Given the description of an element on the screen output the (x, y) to click on. 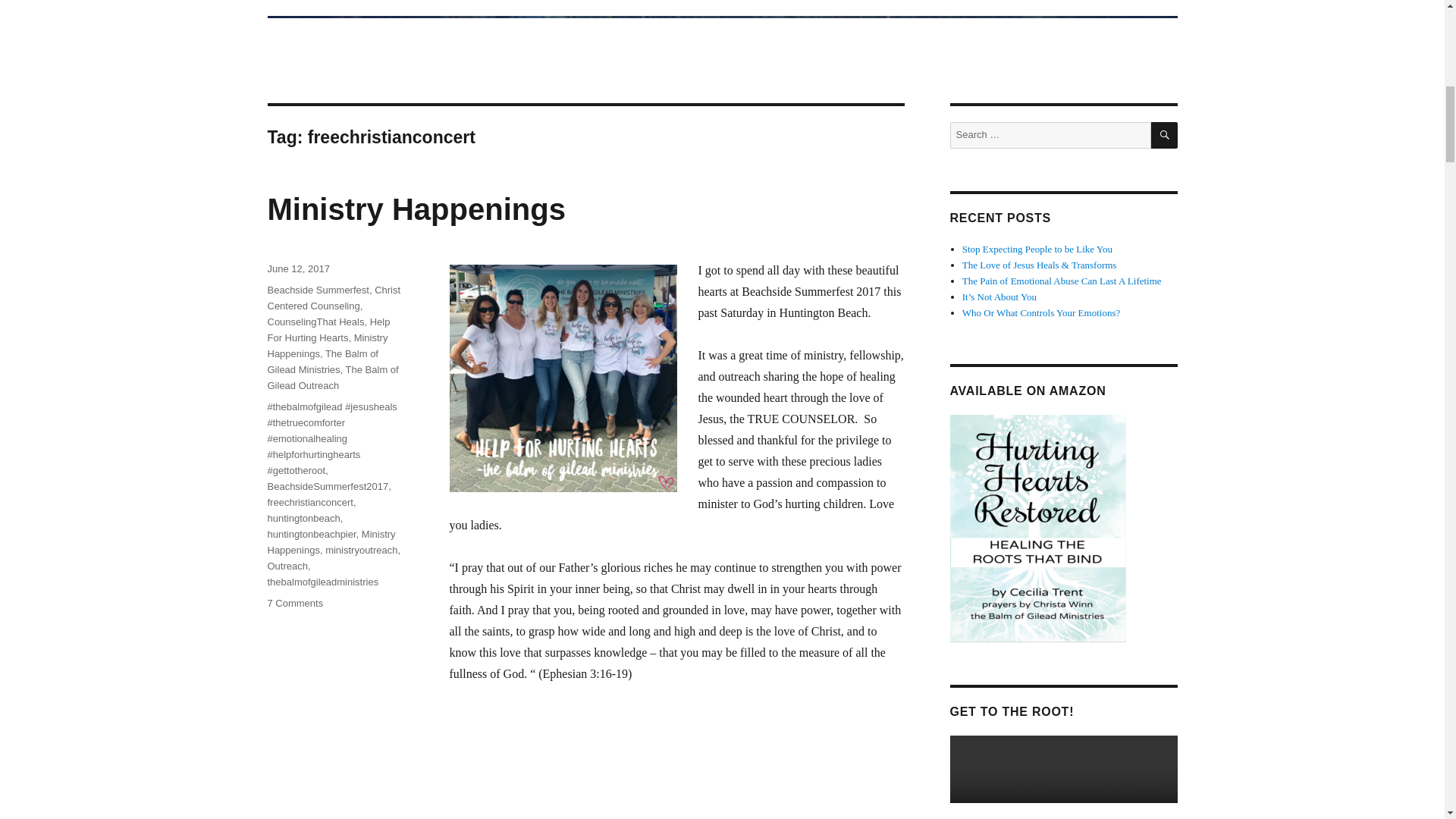
The Balm of Gilead Ministries (321, 361)
freechristianconcert (309, 501)
Stop Expecting People to be Like You (1037, 248)
Ministry Happenings (294, 603)
Ministry Happenings (415, 209)
Help For Hurting Hearts (326, 345)
CounselingThat Heals (328, 329)
BeachsideSummerfest2017 (315, 321)
Christ Centered Counseling (327, 486)
